Given the description of an element on the screen output the (x, y) to click on. 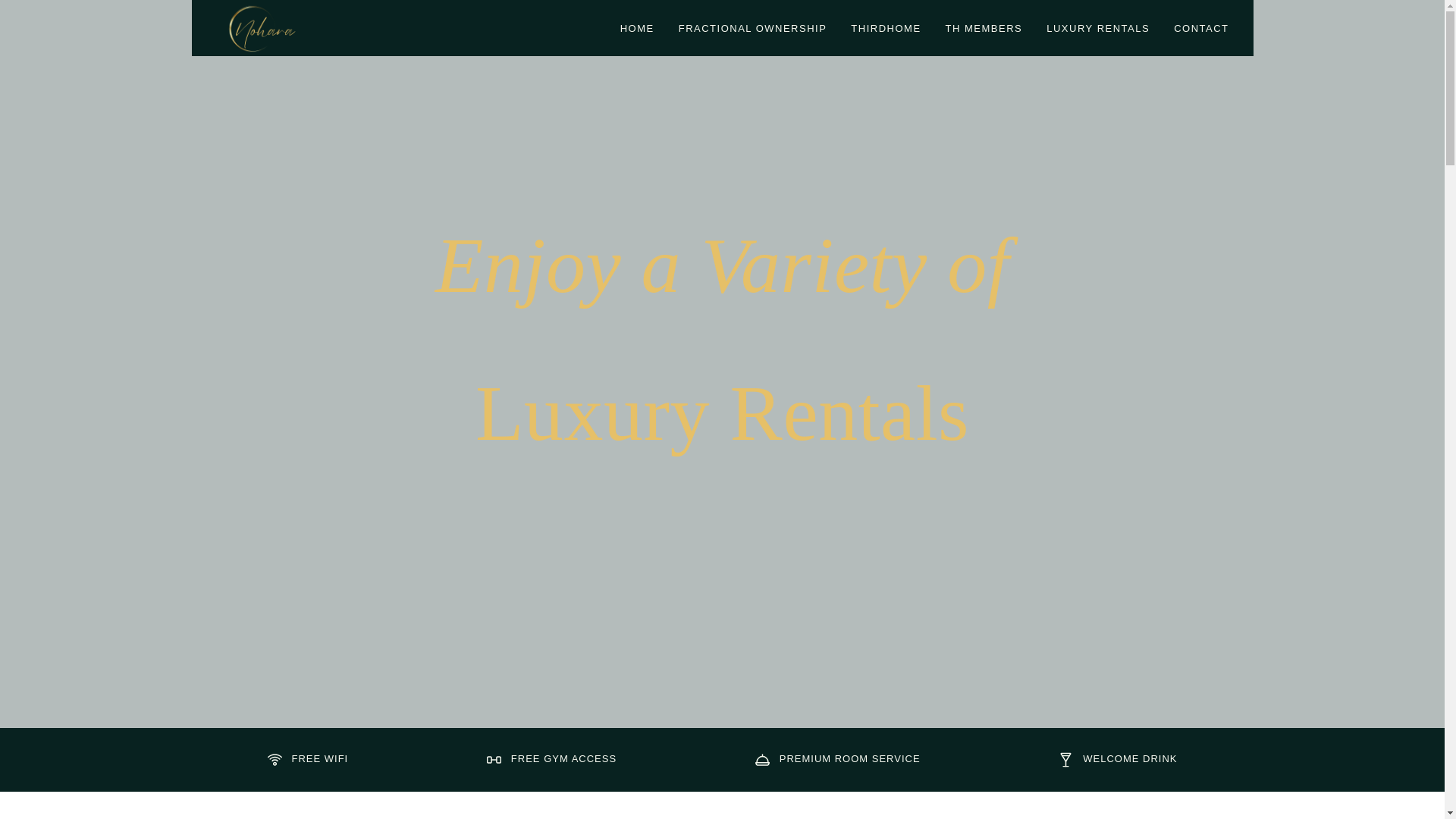
HOME (636, 28)
LUXURY RENTALS (1098, 28)
FRACTIONAL OWNERSHIP (752, 28)
CONTACT (1200, 28)
THIRDHOME (885, 28)
TH MEMBERS (983, 28)
